Given the description of an element on the screen output the (x, y) to click on. 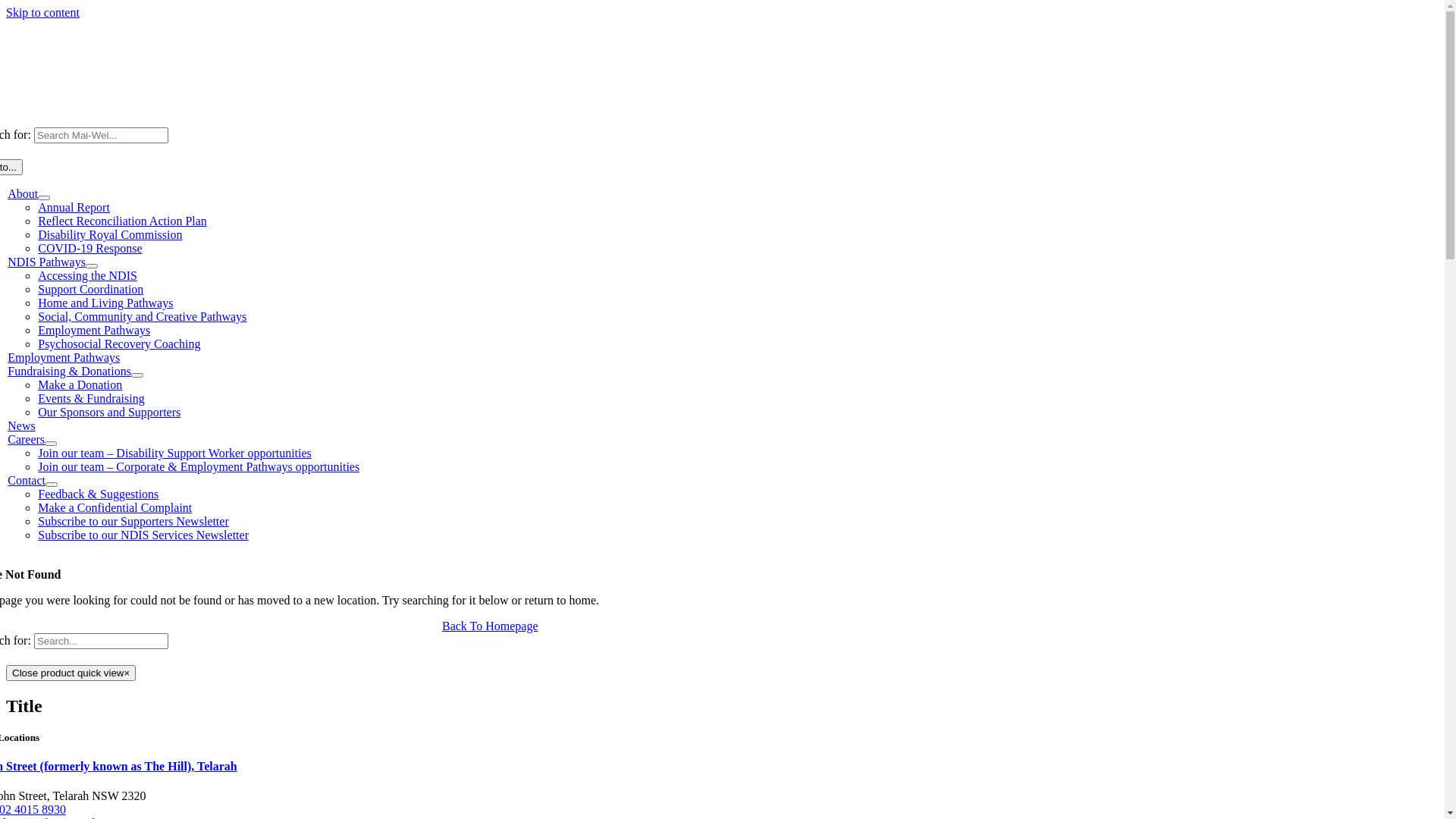
Employment Pathways Element type: text (93, 329)
Reflect Reconciliation Action Plan Element type: text (122, 220)
Subscribe to our Supporters Newsletter Element type: text (133, 520)
Support Coordination Element type: text (90, 288)
Contact Element type: text (26, 479)
NDIS Pathways Element type: text (46, 261)
Feedback & Suggestions Element type: text (97, 493)
Back To Homepage Element type: text (490, 625)
News Element type: text (20, 425)
Fundraising & Donations Element type: text (69, 370)
COVID-19 Response Element type: text (89, 247)
Careers Element type: text (25, 439)
Psychosocial Recovery Coaching Element type: text (118, 343)
Disability Royal Commission Element type: text (109, 234)
Accessing the NDIS Element type: text (87, 275)
Events & Fundraising Element type: text (90, 398)
Make a Donation Element type: text (79, 384)
Employment Pathways Element type: text (63, 357)
Skip to content Element type: text (42, 12)
Make a Confidential Complaint Element type: text (114, 507)
Our Sponsors and Supporters Element type: text (108, 411)
Annual Report Element type: text (73, 206)
Social, Community and Creative Pathways Element type: text (141, 316)
Home and Living Pathways Element type: text (104, 302)
About Element type: text (22, 193)
Subscribe to our NDIS Services Newsletter Element type: text (142, 534)
